Given the description of an element on the screen output the (x, y) to click on. 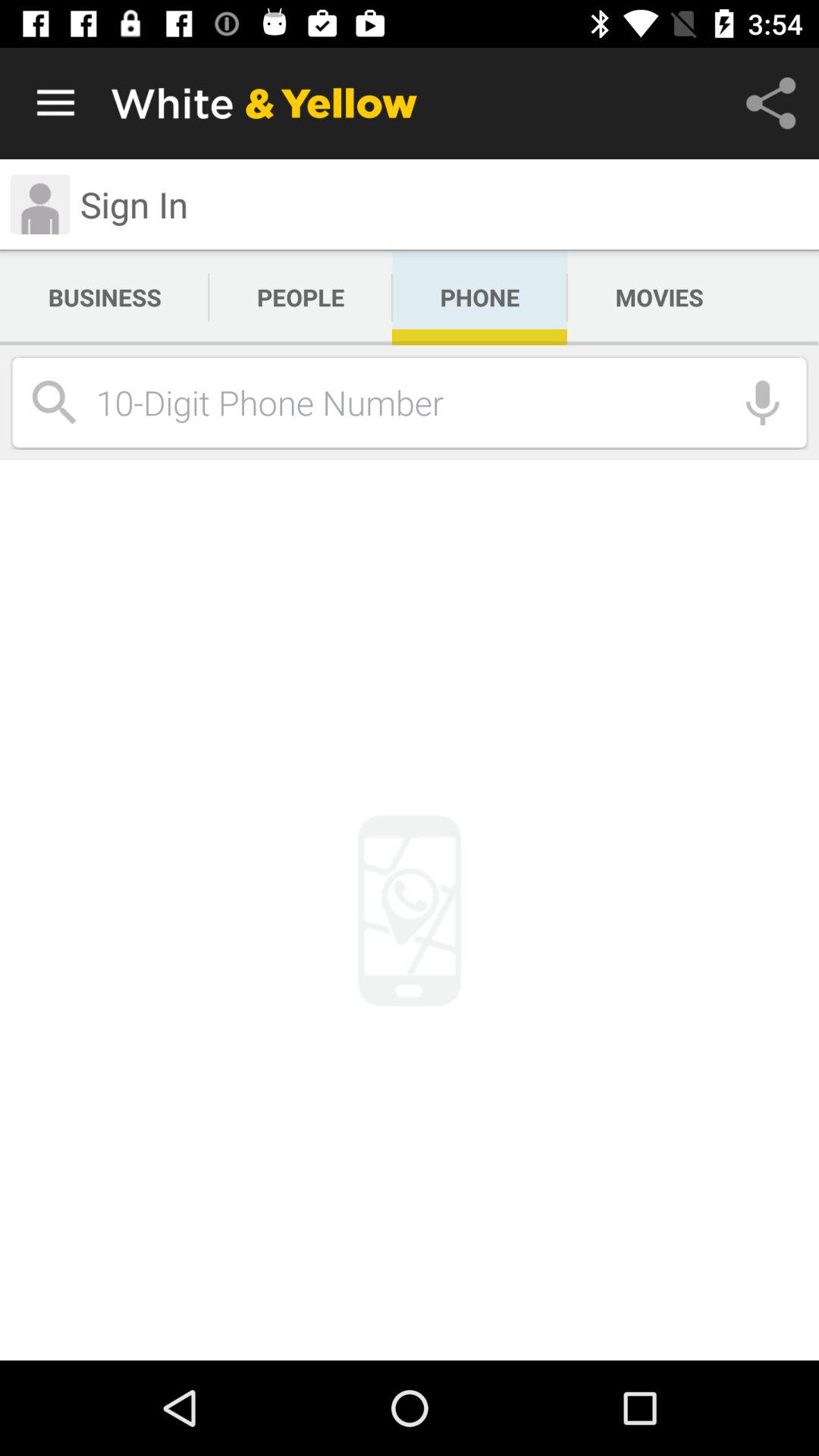
launch icon next to the people (479, 297)
